Given the description of an element on the screen output the (x, y) to click on. 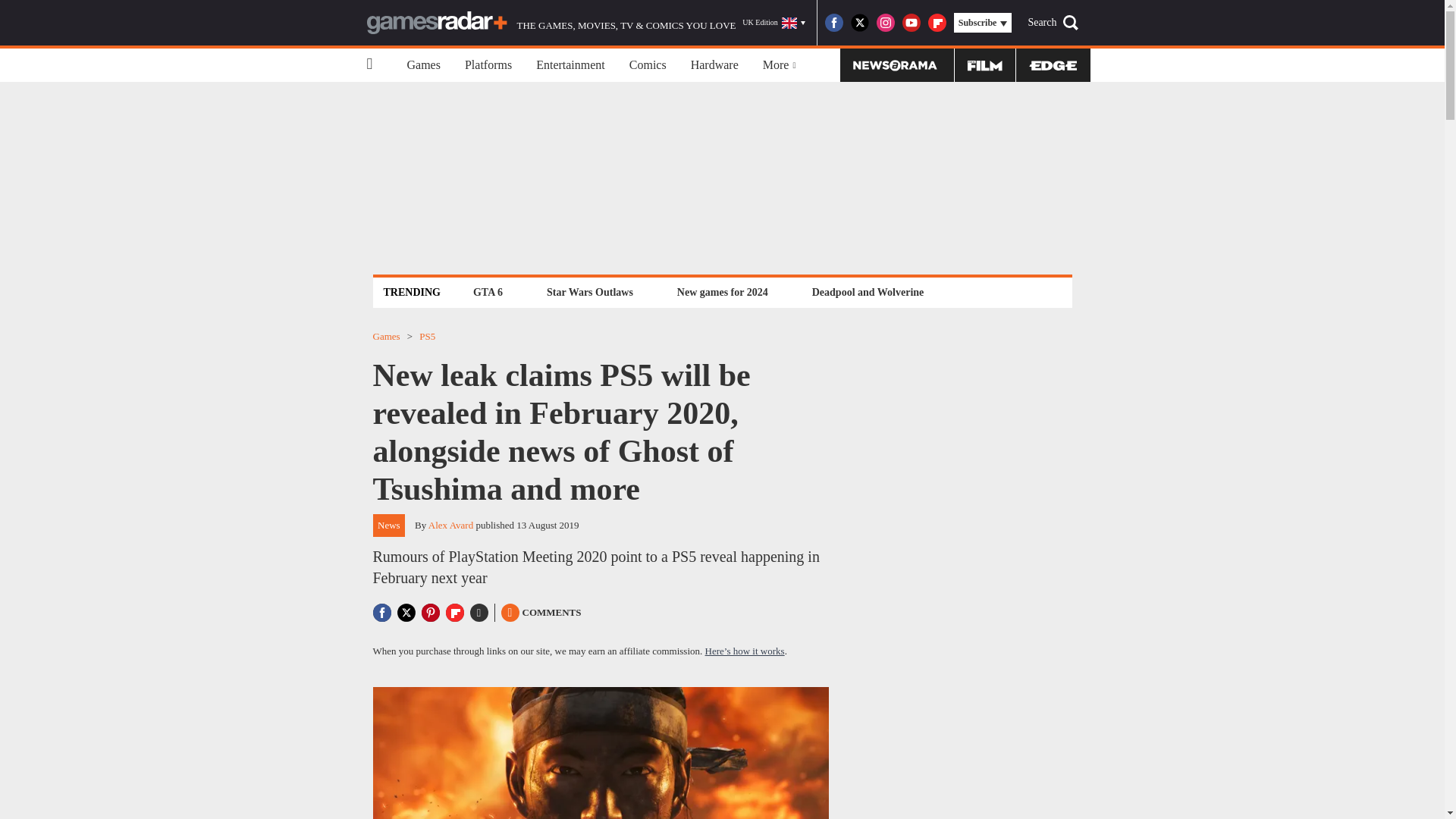
New games for 2024 (722, 292)
UK Edition (773, 22)
Entertainment (570, 64)
Comics (647, 64)
Deadpool and Wolverine (868, 292)
Platforms (488, 64)
Hardware (714, 64)
GTA 6 (487, 292)
Star Wars Outlaws (590, 292)
Games (422, 64)
